Given the description of an element on the screen output the (x, y) to click on. 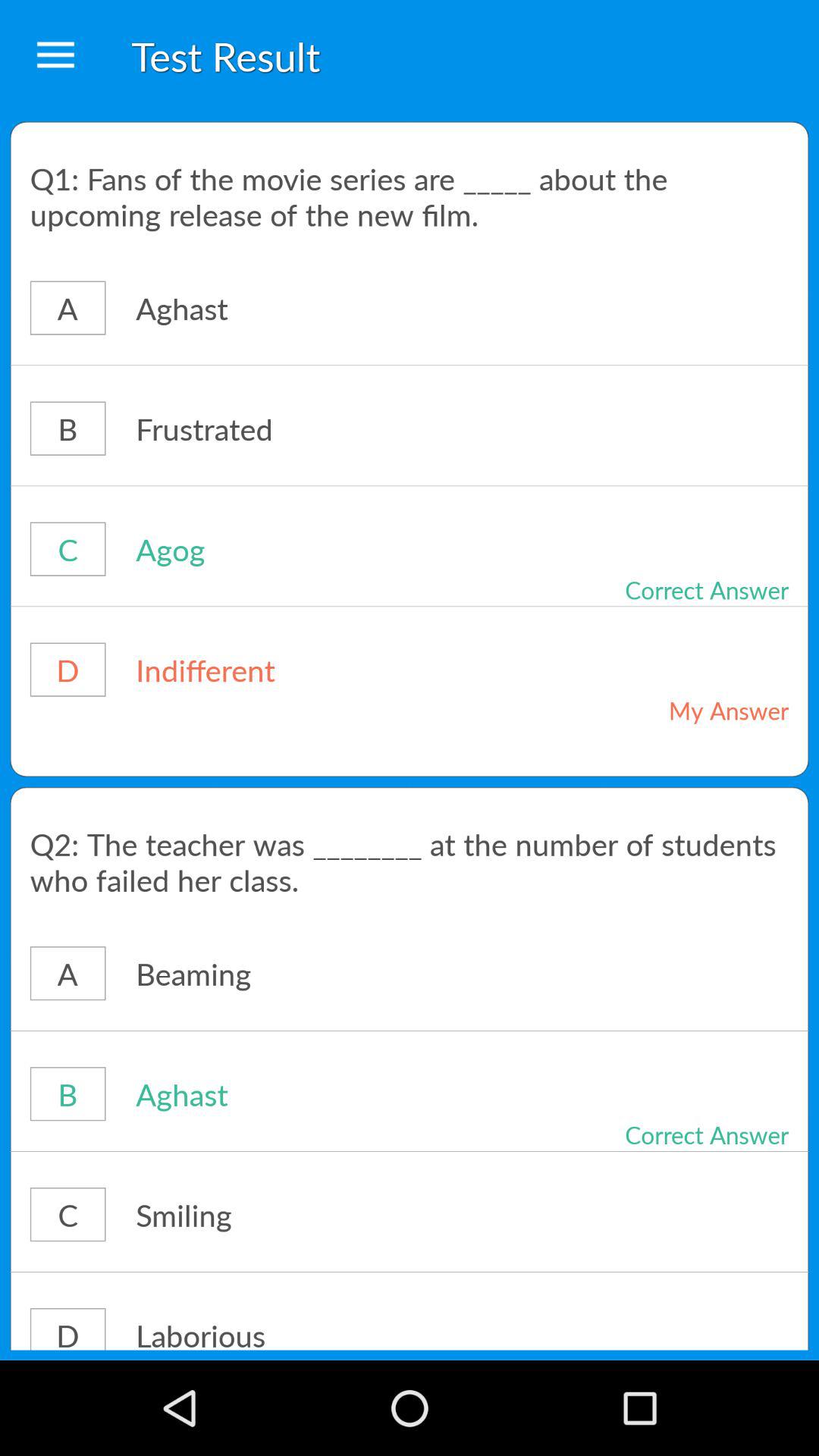
flip to the my answer icon (674, 709)
